Given the description of an element on the screen output the (x, y) to click on. 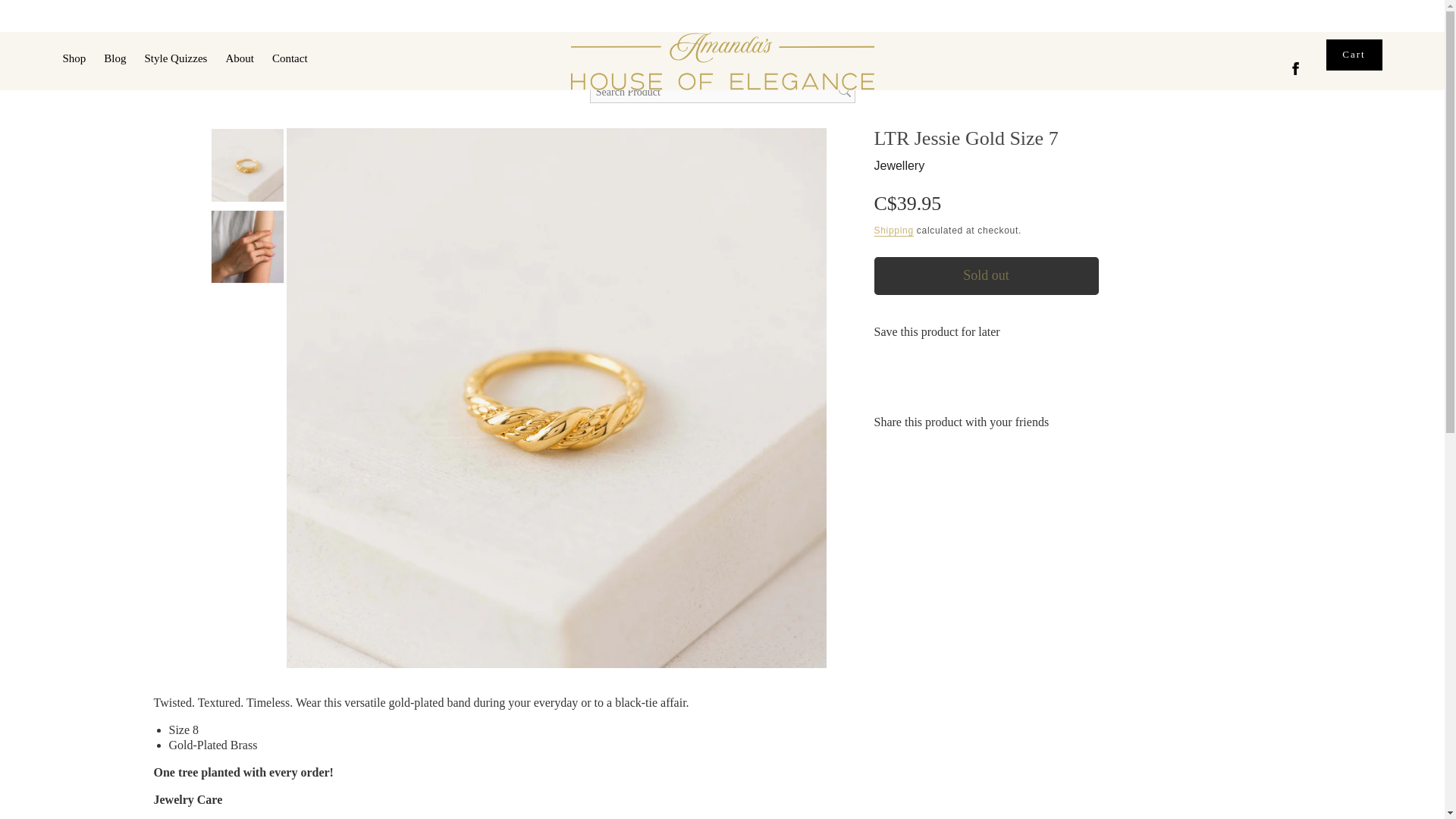
Search (845, 92)
Shipping (892, 230)
About (239, 59)
Jewellery (898, 164)
Contact (290, 59)
Shop (73, 59)
Skip to content (45, 17)
Skip to product information (329, 144)
Blog (1352, 54)
